Given the description of an element on the screen output the (x, y) to click on. 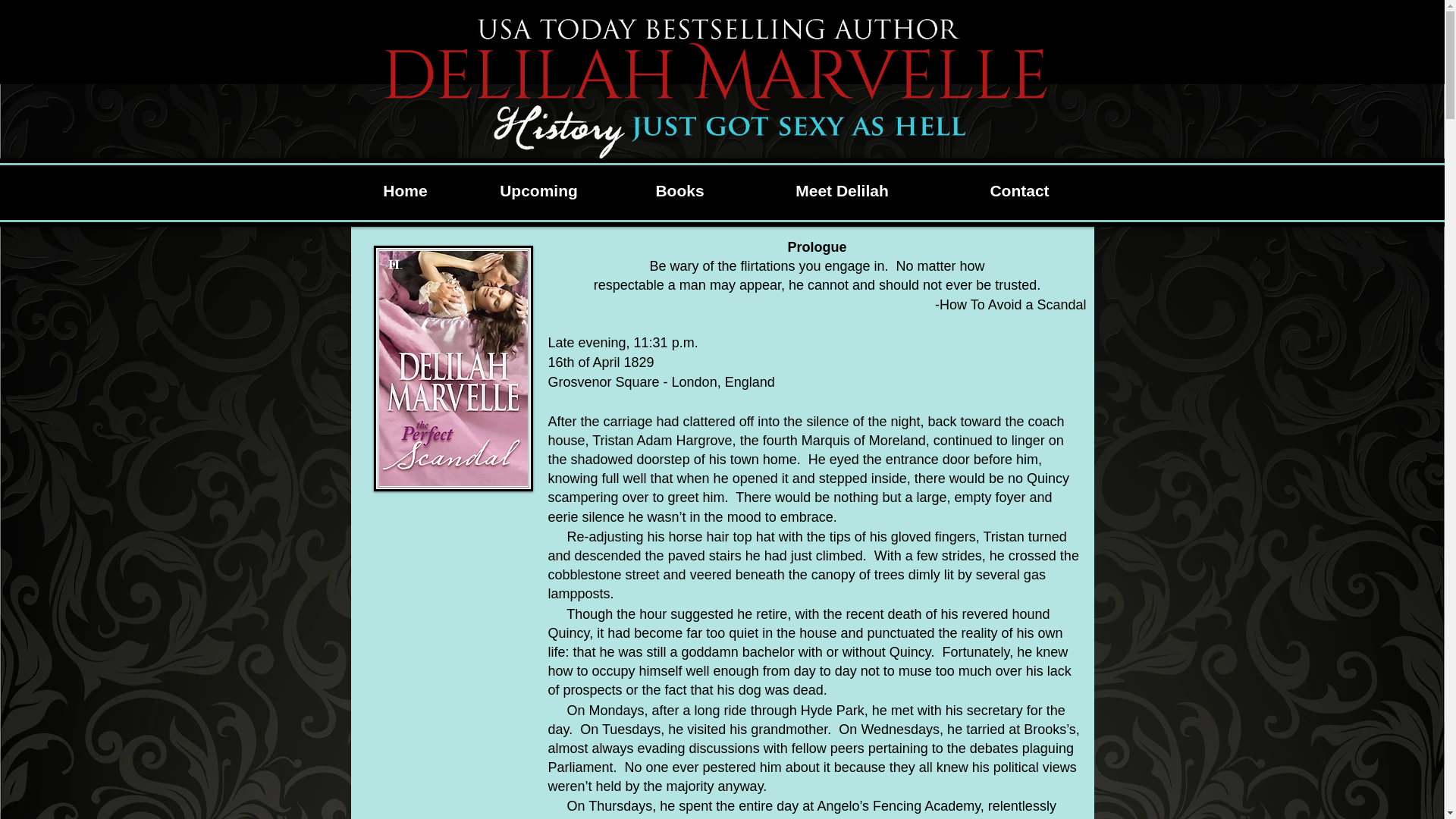
Home (405, 190)
Meet Delilah (841, 190)
Contact (1018, 190)
Books (679, 190)
Upcoming (538, 190)
